Given the description of an element on the screen output the (x, y) to click on. 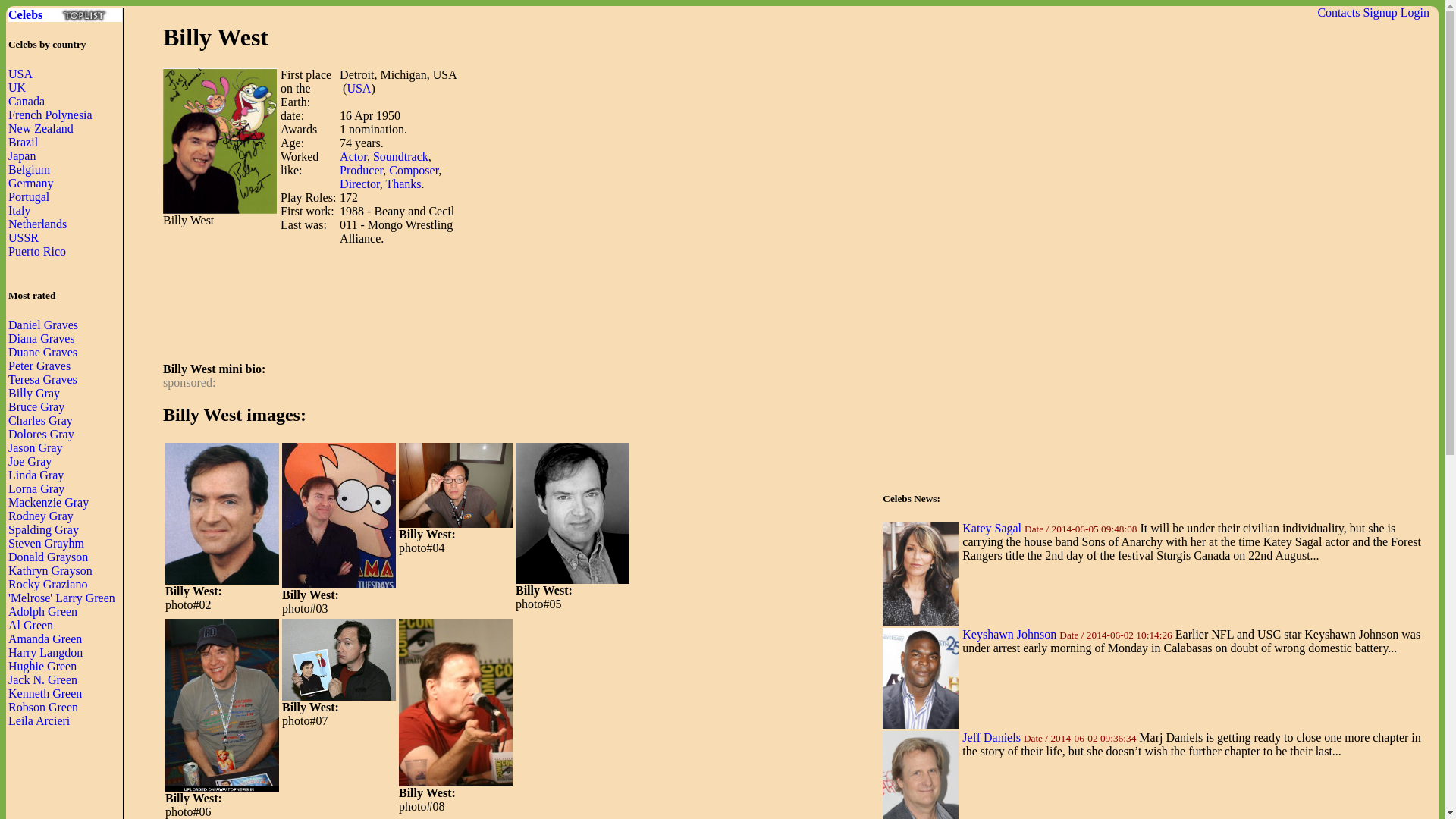
Japan (21, 155)
Signup (1379, 11)
French Polynesia (50, 114)
Spalding Gray (43, 529)
Mackenzie Gray (48, 502)
Lorna Gray (36, 488)
Brazil (22, 141)
Rocky Graziano (47, 584)
Celebs (65, 15)
Advertisement (715, 173)
Netherlands (37, 223)
Germany (30, 182)
Linda Gray (36, 474)
Kathryn Grayson (50, 570)
Contacts (1338, 11)
